Given the description of an element on the screen output the (x, y) to click on. 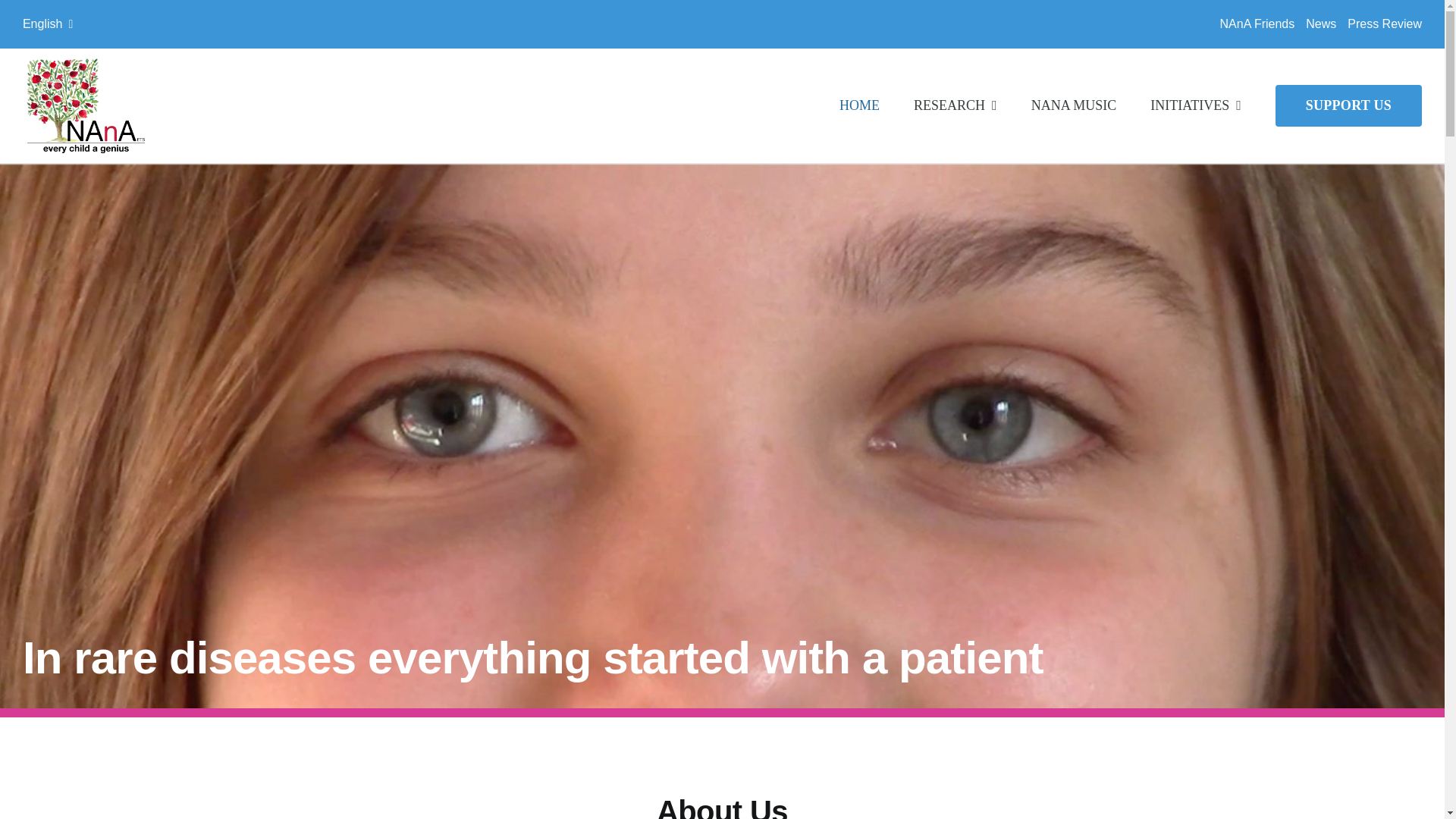
RESEARCH (955, 104)
English (47, 24)
SUPPORT US (1348, 104)
Press Review (1385, 24)
News (1321, 24)
English (47, 24)
HOME (859, 104)
INITIATIVES (1195, 104)
NANA MUSIC (1073, 104)
NAnA Friends (1257, 24)
